Given the description of an element on the screen output the (x, y) to click on. 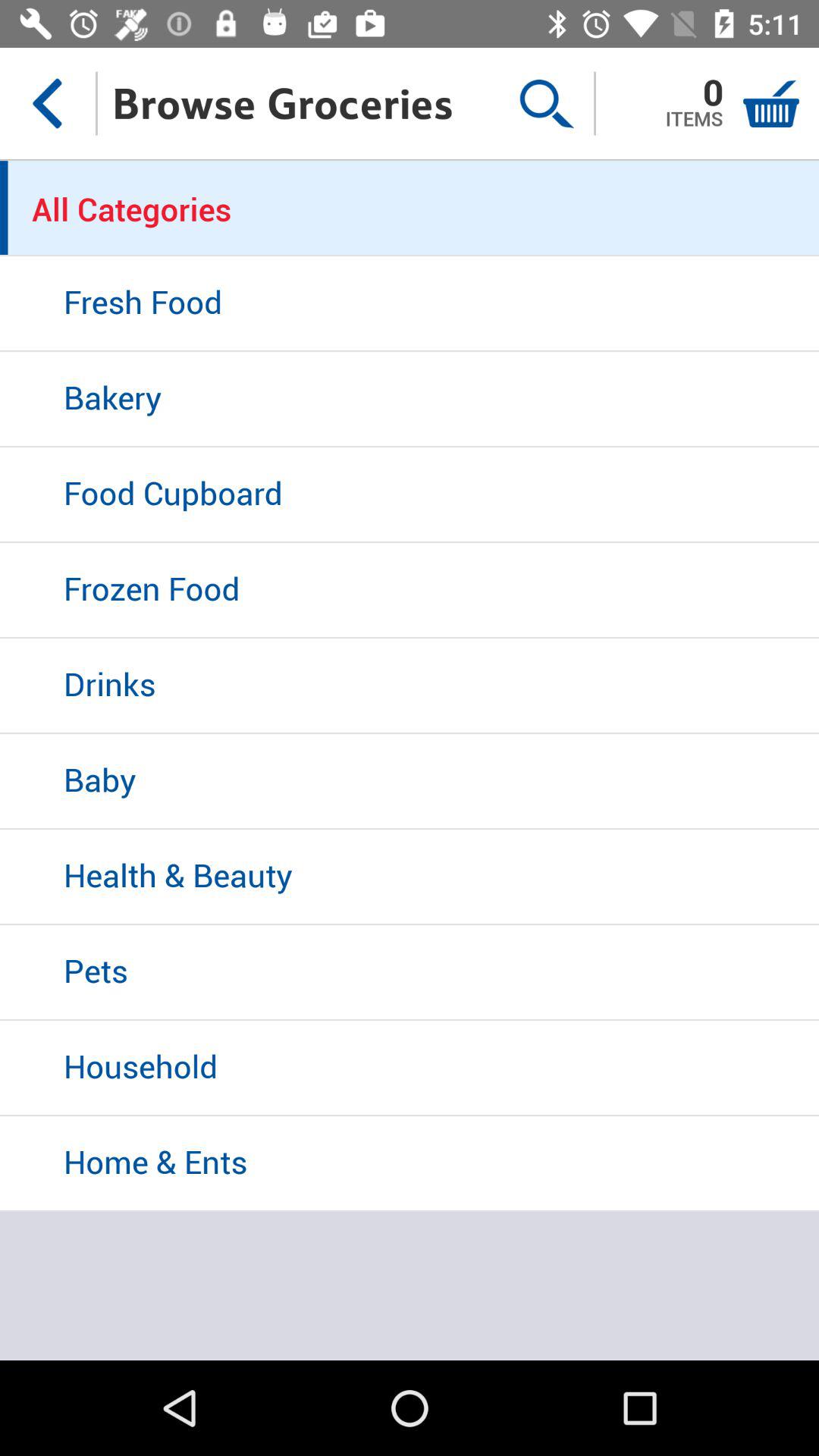
select the icon below the all categories icon (409, 304)
